Given the description of an element on the screen output the (x, y) to click on. 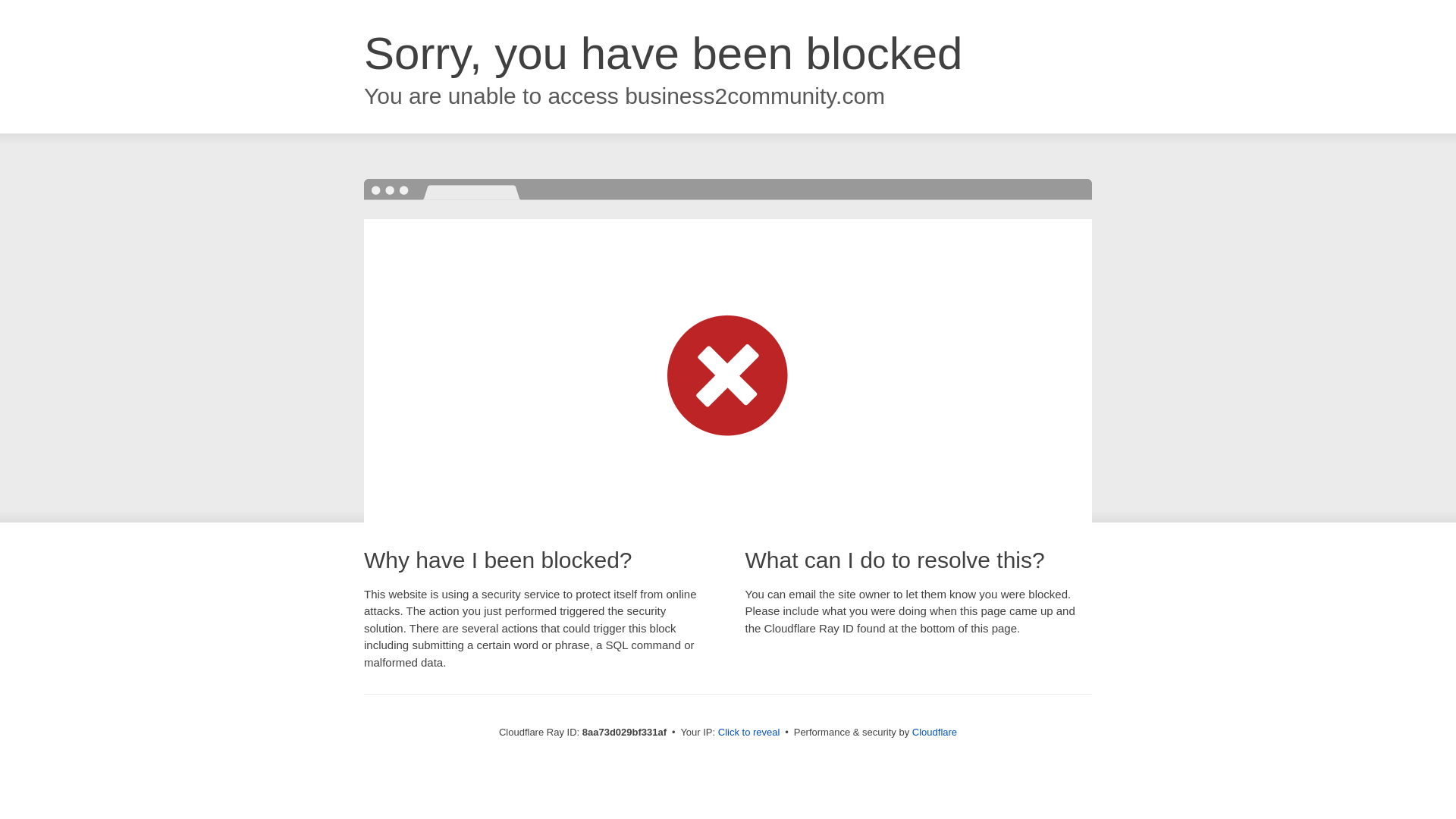
Click to reveal (748, 732)
Cloudflare (934, 731)
